Given the description of an element on the screen output the (x, y) to click on. 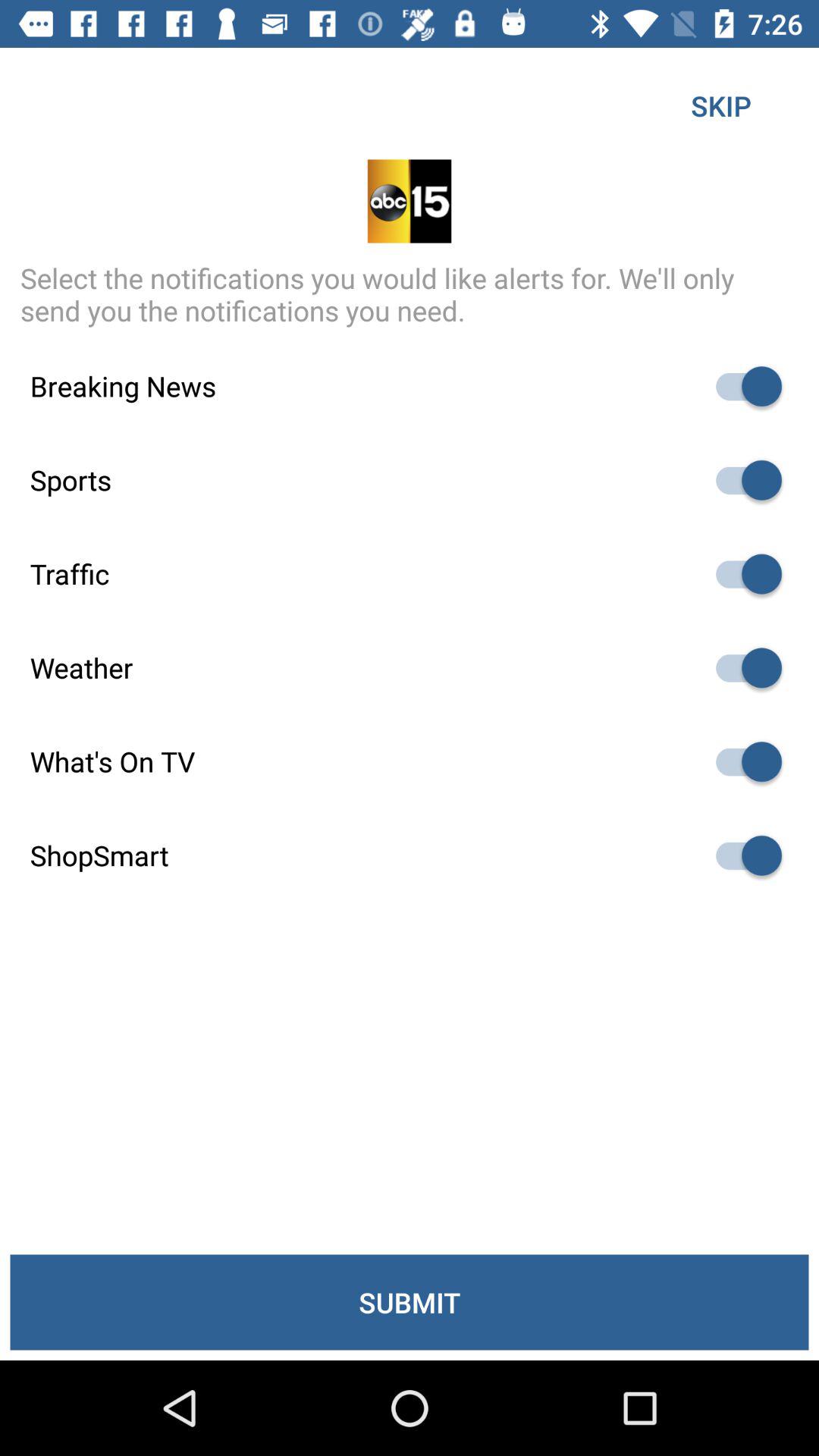
scroll to the submit item (409, 1302)
